Given the description of an element on the screen output the (x, y) to click on. 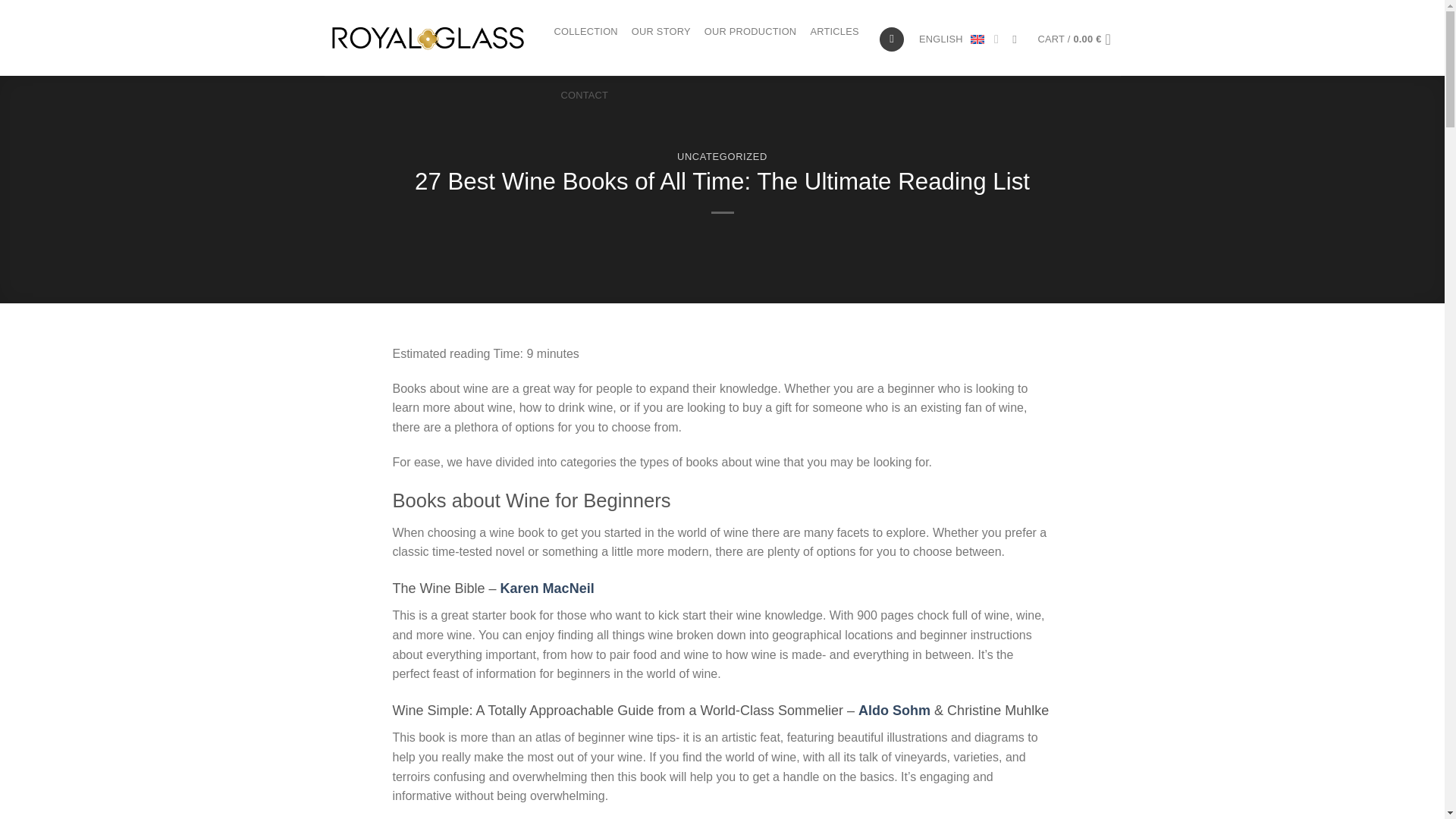
Login (891, 39)
OUR STORY (660, 31)
UNCATEGORIZED (722, 156)
Royal Glass - The perfect wine glass (427, 37)
COLLECTION (585, 31)
Aldo Sohm (894, 710)
ENGLISH (958, 39)
OUR PRODUCTION (750, 31)
Karen MacNeil (547, 588)
Cart (1079, 39)
